Given the description of an element on the screen output the (x, y) to click on. 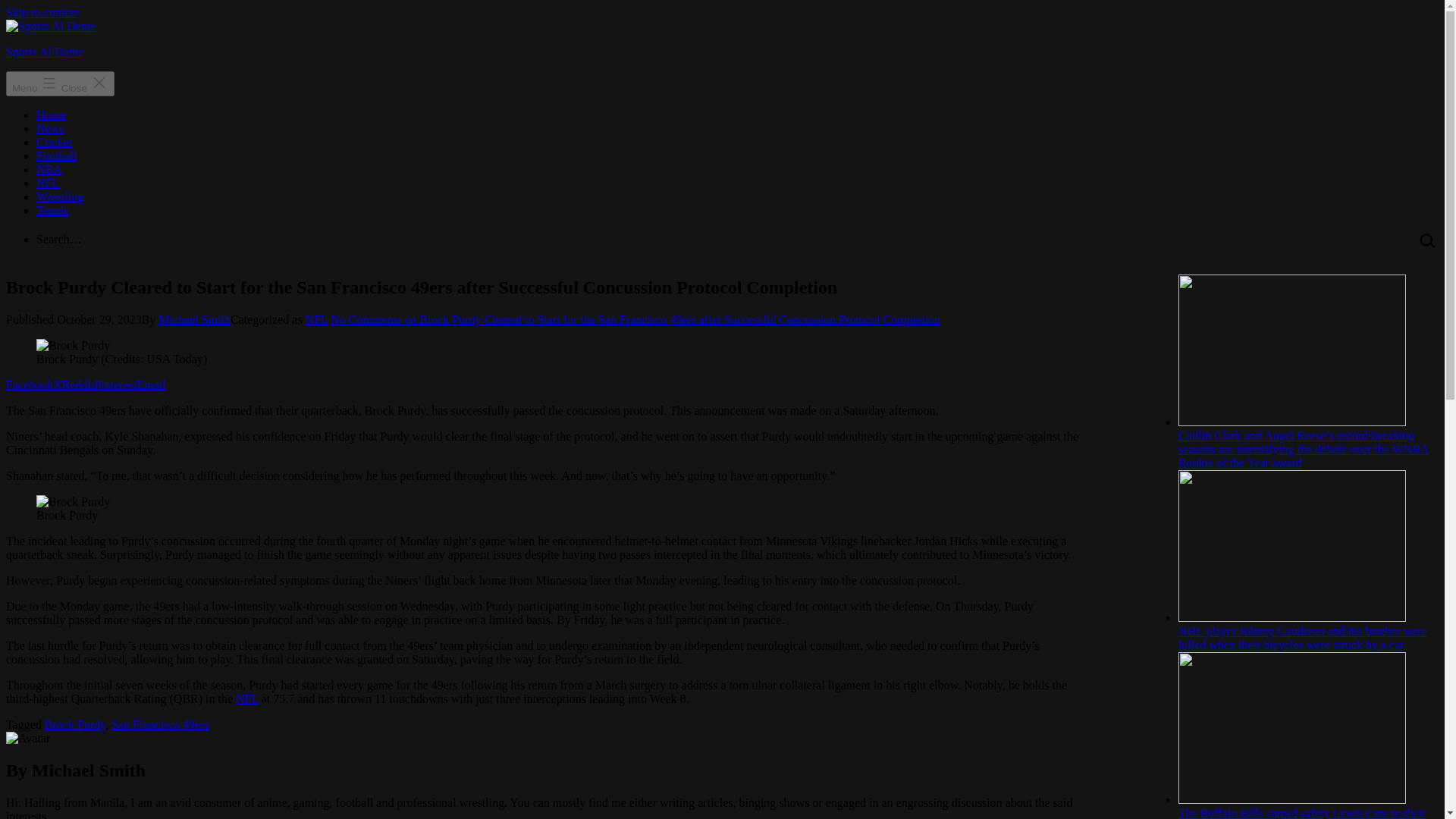
Home (50, 114)
Wrestling (59, 196)
San Francisco 49ers (160, 724)
Email (150, 384)
Menu Close (60, 83)
Michael Smith (194, 318)
Tennis (52, 210)
NFL (47, 182)
NBA (49, 169)
